Given the description of an element on the screen output the (x, y) to click on. 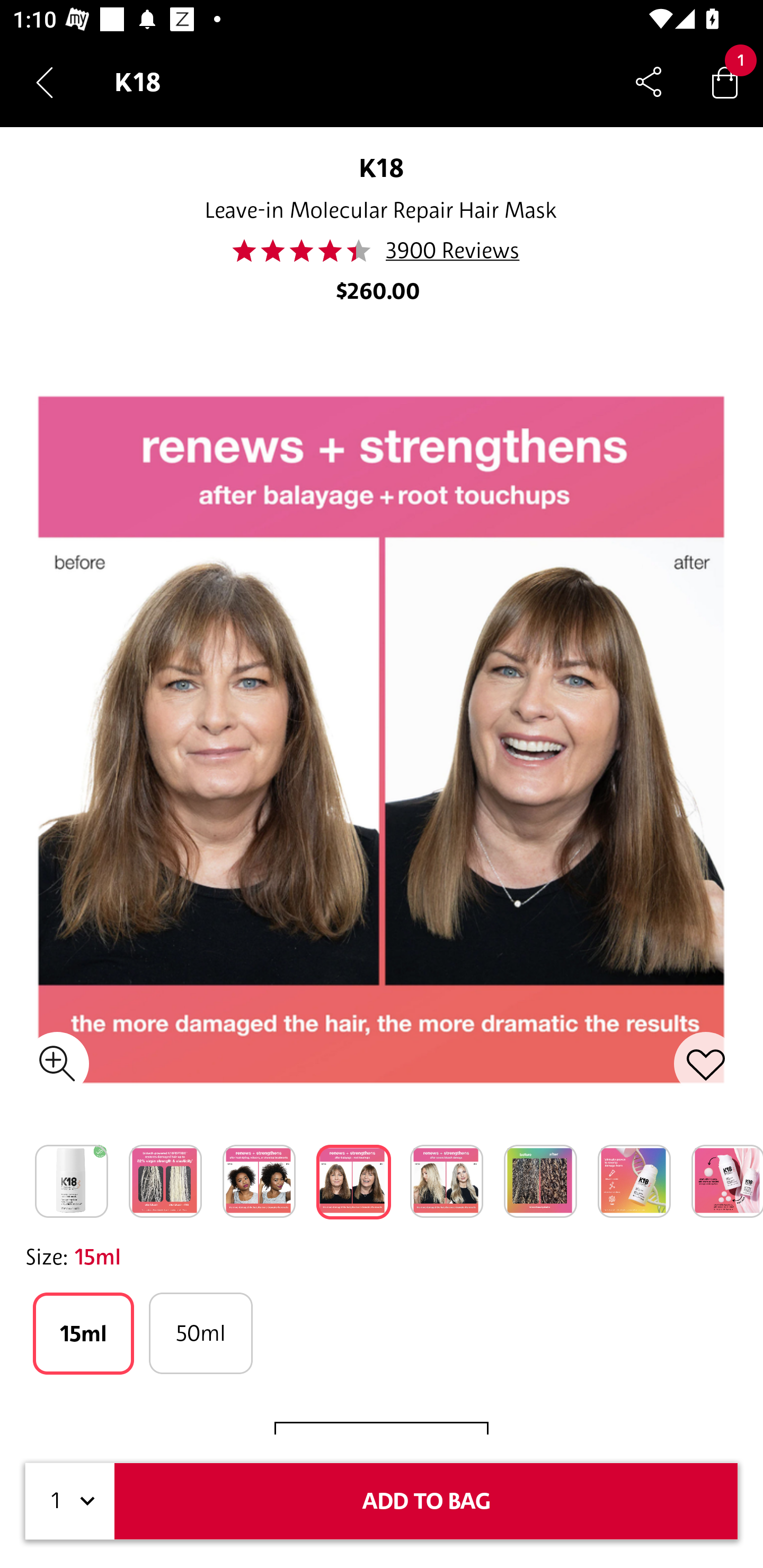
Navigate up (44, 82)
Share (648, 81)
Bag (724, 81)
K18 (381, 167)
44.0 3900 Reviews (380, 250)
15ml (83, 1333)
50ml (200, 1332)
1 (69, 1500)
ADD TO BAG (425, 1500)
